Given the description of an element on the screen output the (x, y) to click on. 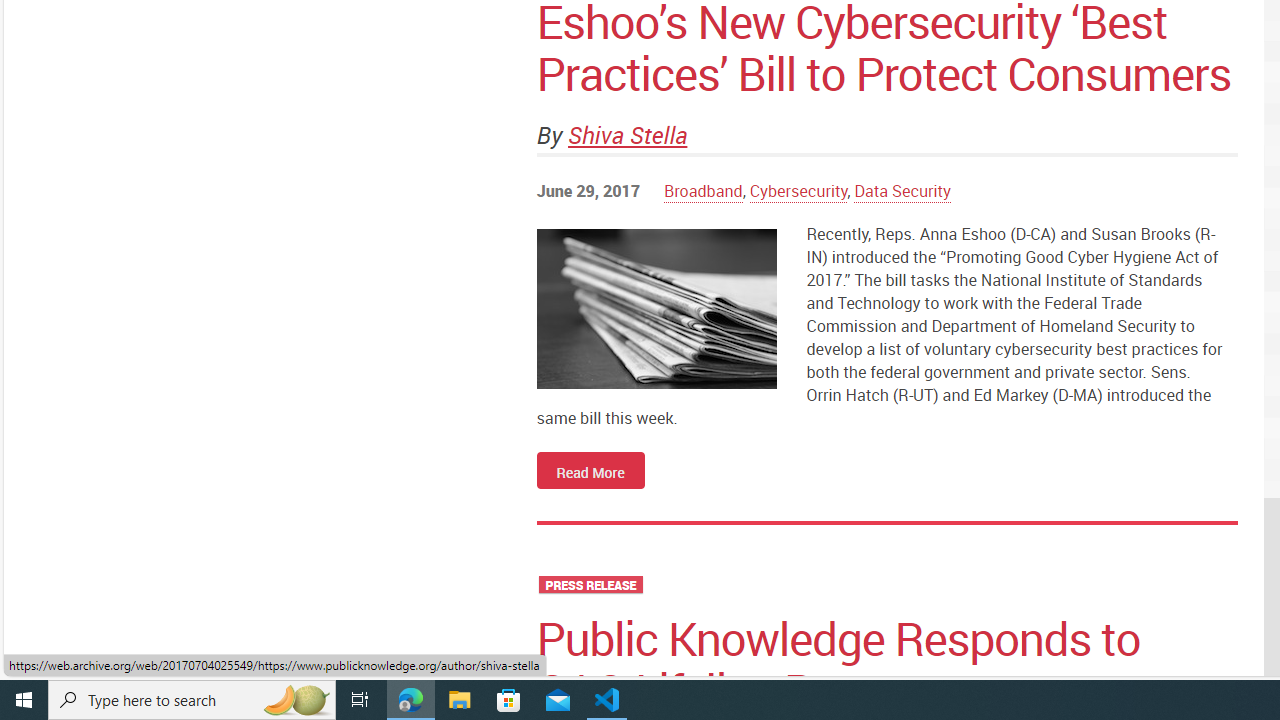
 img (656, 308)
Broadband (703, 191)
PRESS RELEASE (589, 584)
Cybersecurity (797, 191)
Data Security (902, 191)
Shiva Stella (628, 134)
Read More (590, 469)
